Given the description of an element on the screen output the (x, y) to click on. 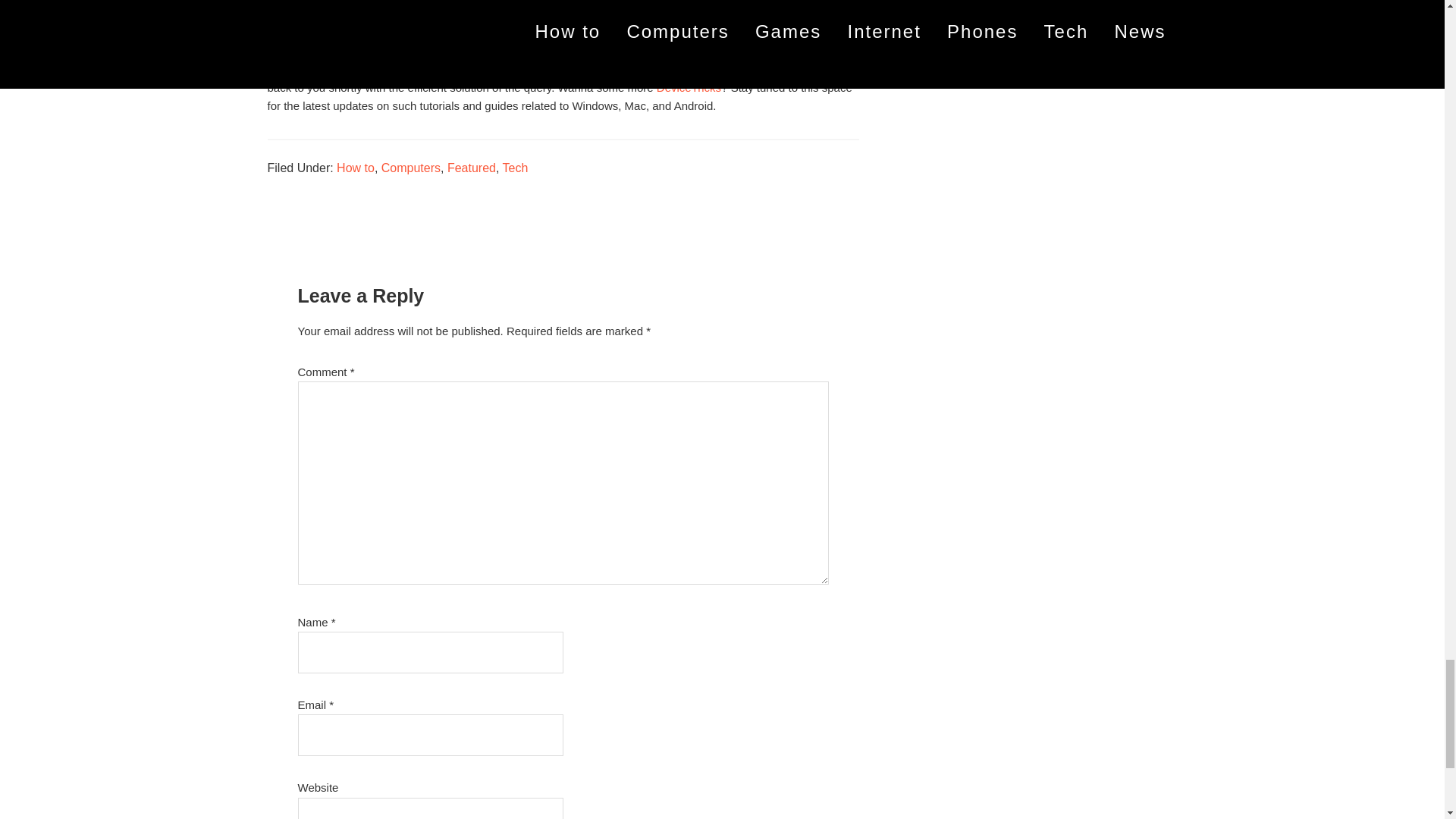
Featured (471, 167)
DeviceTricks (688, 87)
Computers (411, 167)
Tech (515, 167)
How to (355, 167)
